Given the description of an element on the screen output the (x, y) to click on. 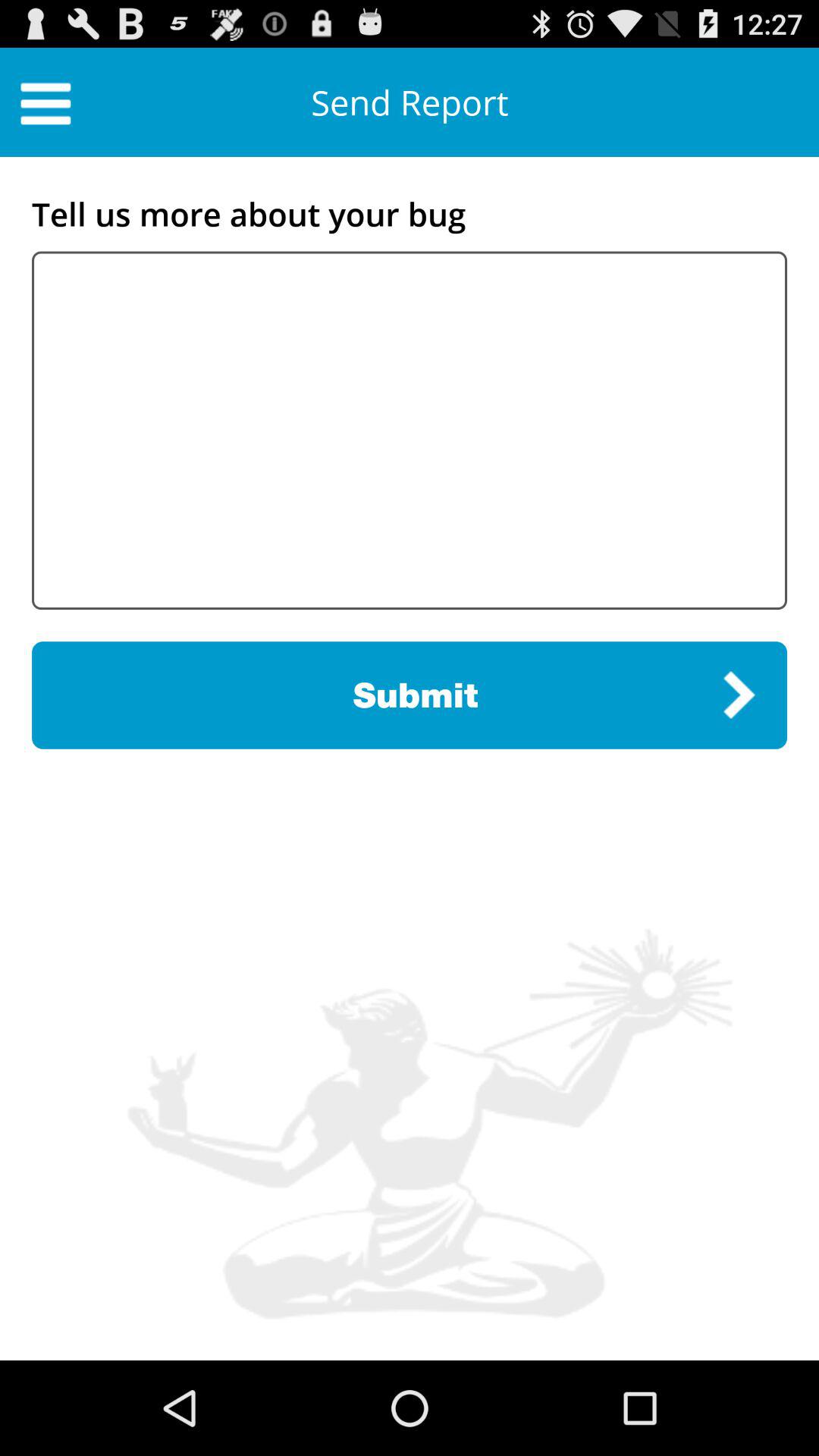
report a bug field (409, 430)
